Given the description of an element on the screen output the (x, y) to click on. 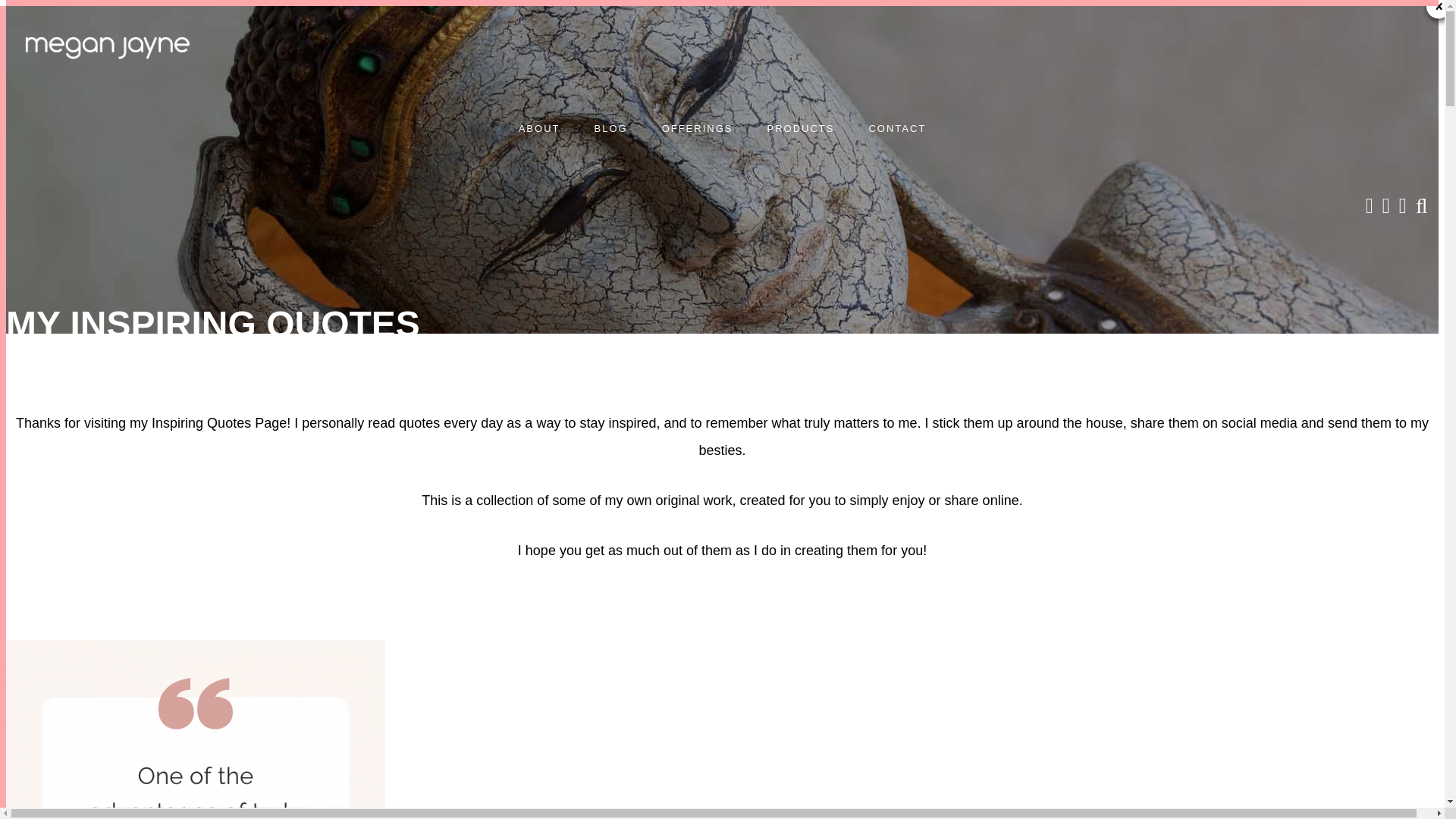
ABOUT (539, 128)
OFFERINGS (697, 128)
PRODUCTS (799, 128)
BLOG (610, 128)
CONTACT (896, 128)
